Given the description of an element on the screen output the (x, y) to click on. 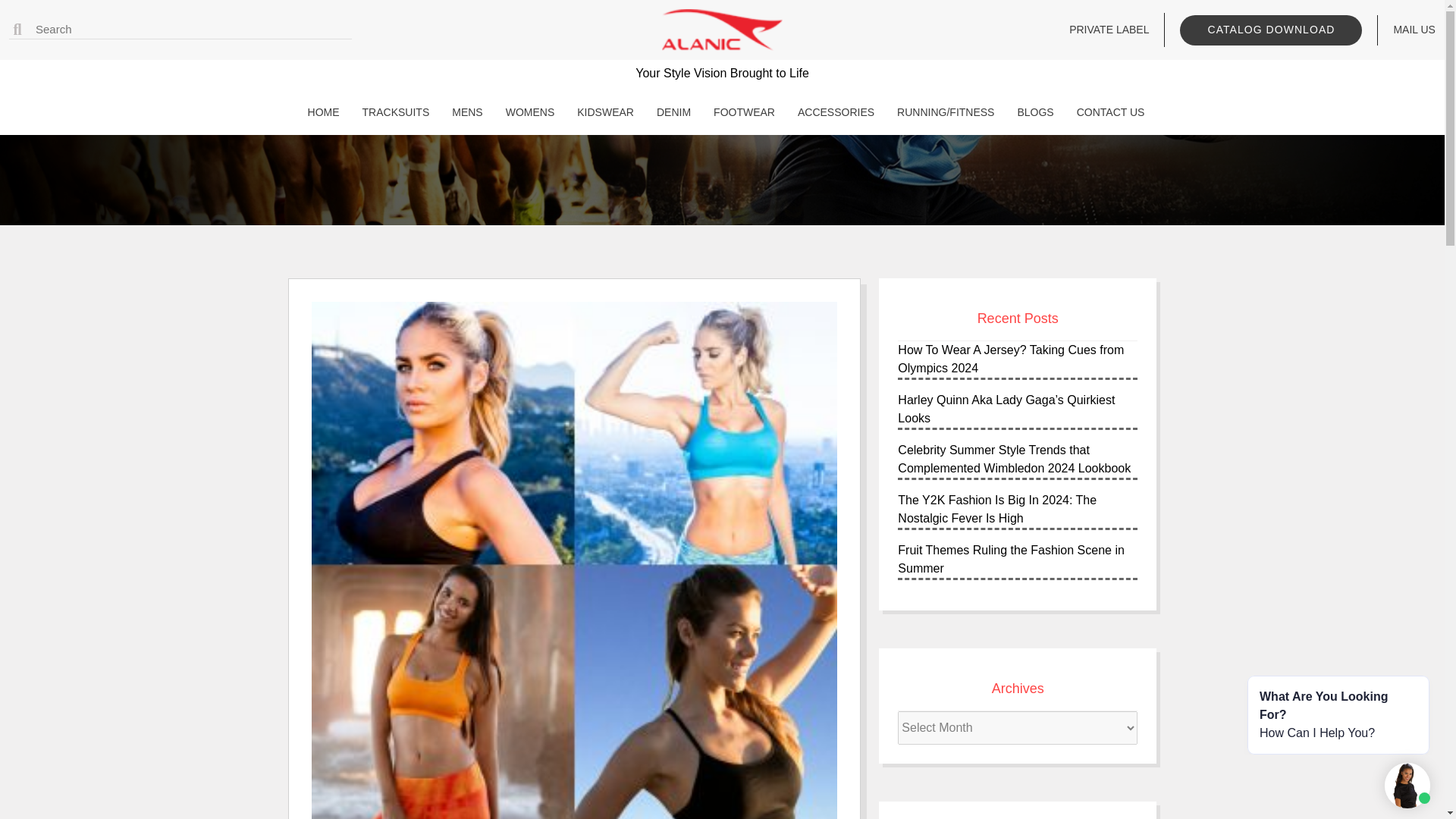
Blogs (1030, 112)
HOME (319, 112)
MENS (462, 112)
Womens (525, 112)
How To Wear A Jersey? Taking Cues from Olympics 2024 (1011, 358)
WOMENS (525, 112)
Accessories (832, 112)
CATALOG DOWNLOAD (1270, 30)
FOOTWEAR (740, 112)
